Given the description of an element on the screen output the (x, y) to click on. 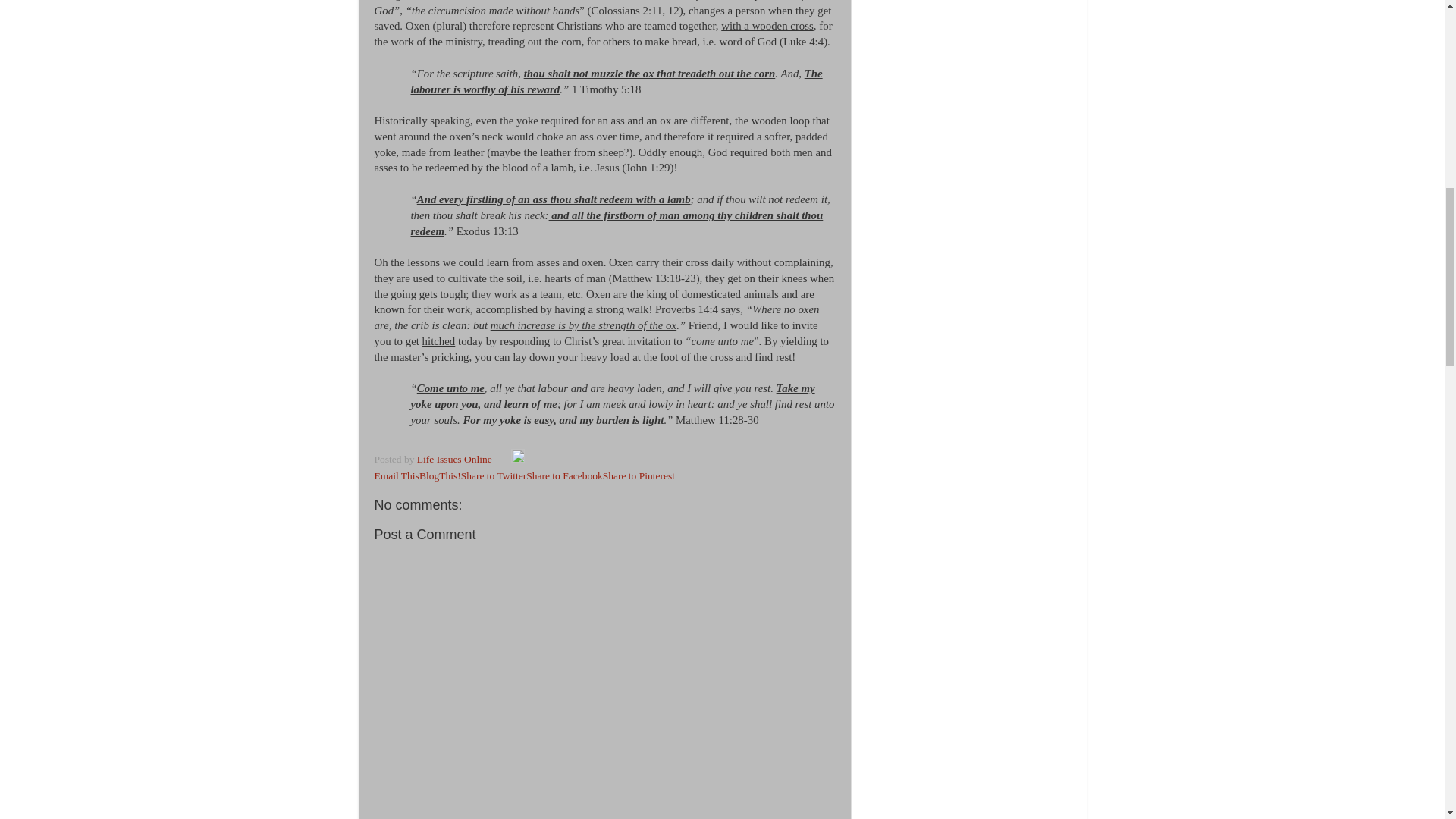
Email This (396, 475)
Share to Twitter (494, 475)
Share to Facebook (563, 475)
author profile (455, 459)
BlogThis! (440, 475)
Email Post (503, 459)
Share to Twitter (494, 475)
Edit Post (517, 459)
Share to Pinterest (638, 475)
Life Issues Online (455, 459)
Share to Facebook (563, 475)
BlogThis! (440, 475)
Email This (396, 475)
Share to Pinterest (638, 475)
